Given the description of an element on the screen output the (x, y) to click on. 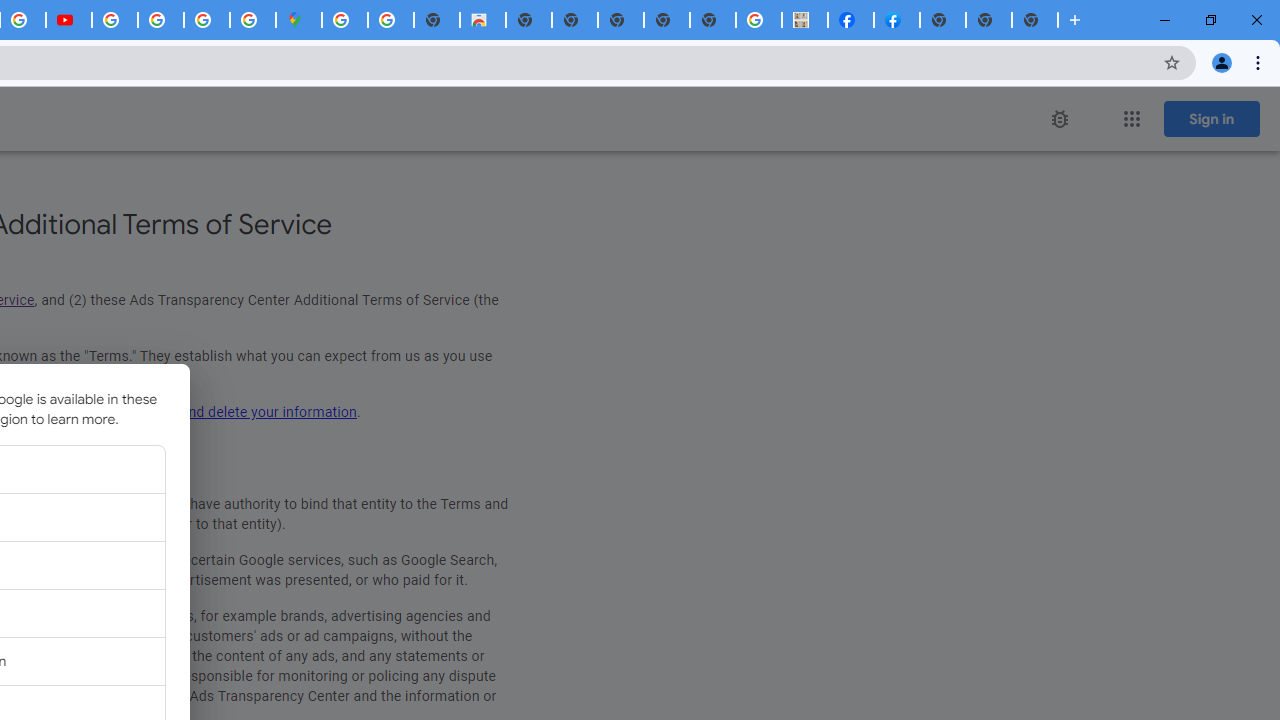
Google Maps (299, 20)
New Tab (943, 20)
New Tab (1035, 20)
